Given the description of an element on the screen output the (x, y) to click on. 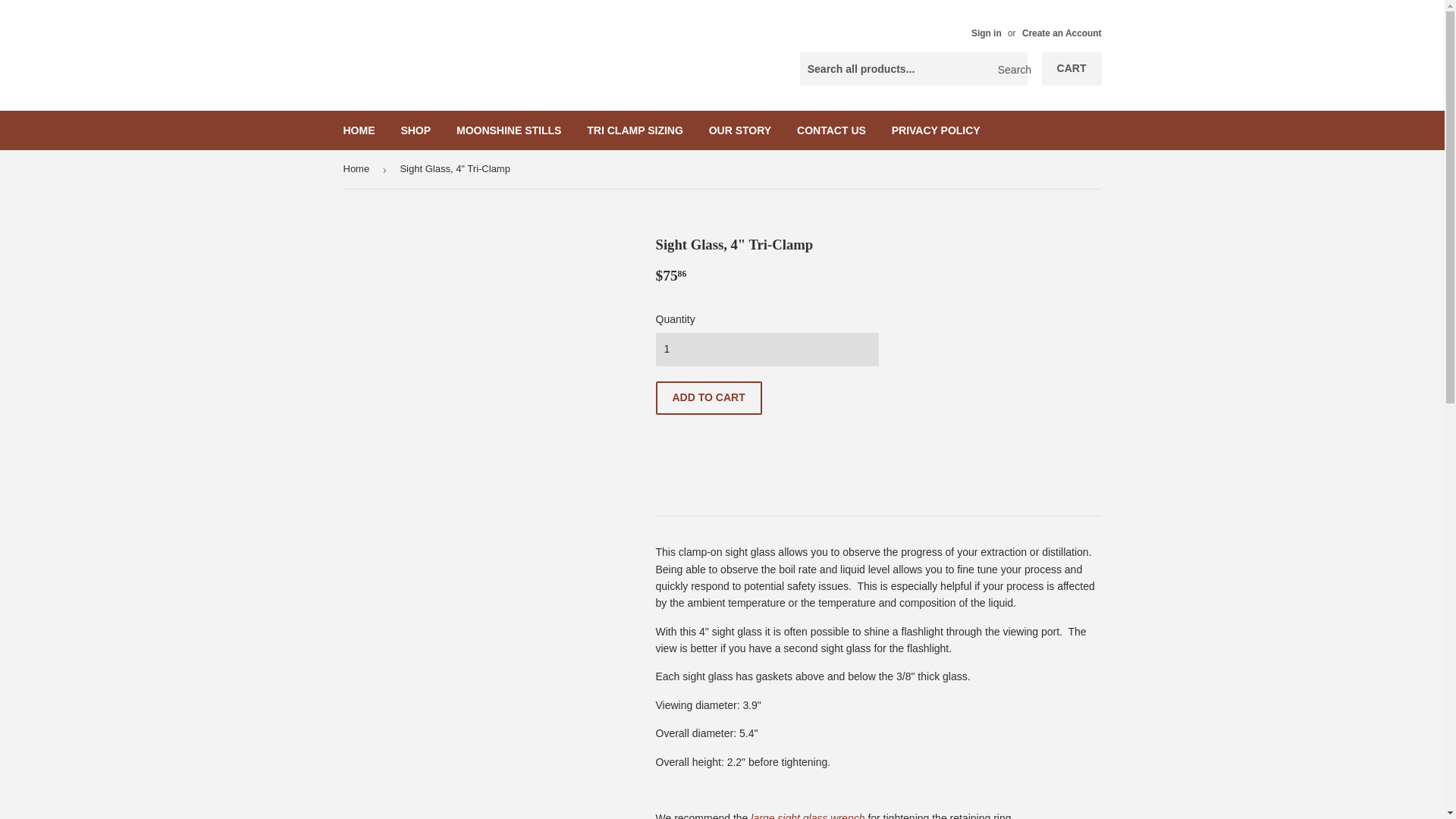
Sign in (986, 32)
CART (1072, 68)
Search (1009, 69)
1 (766, 349)
Large Sight Glass Wrench (807, 815)
Create an Account (1062, 32)
